Given the description of an element on the screen output the (x, y) to click on. 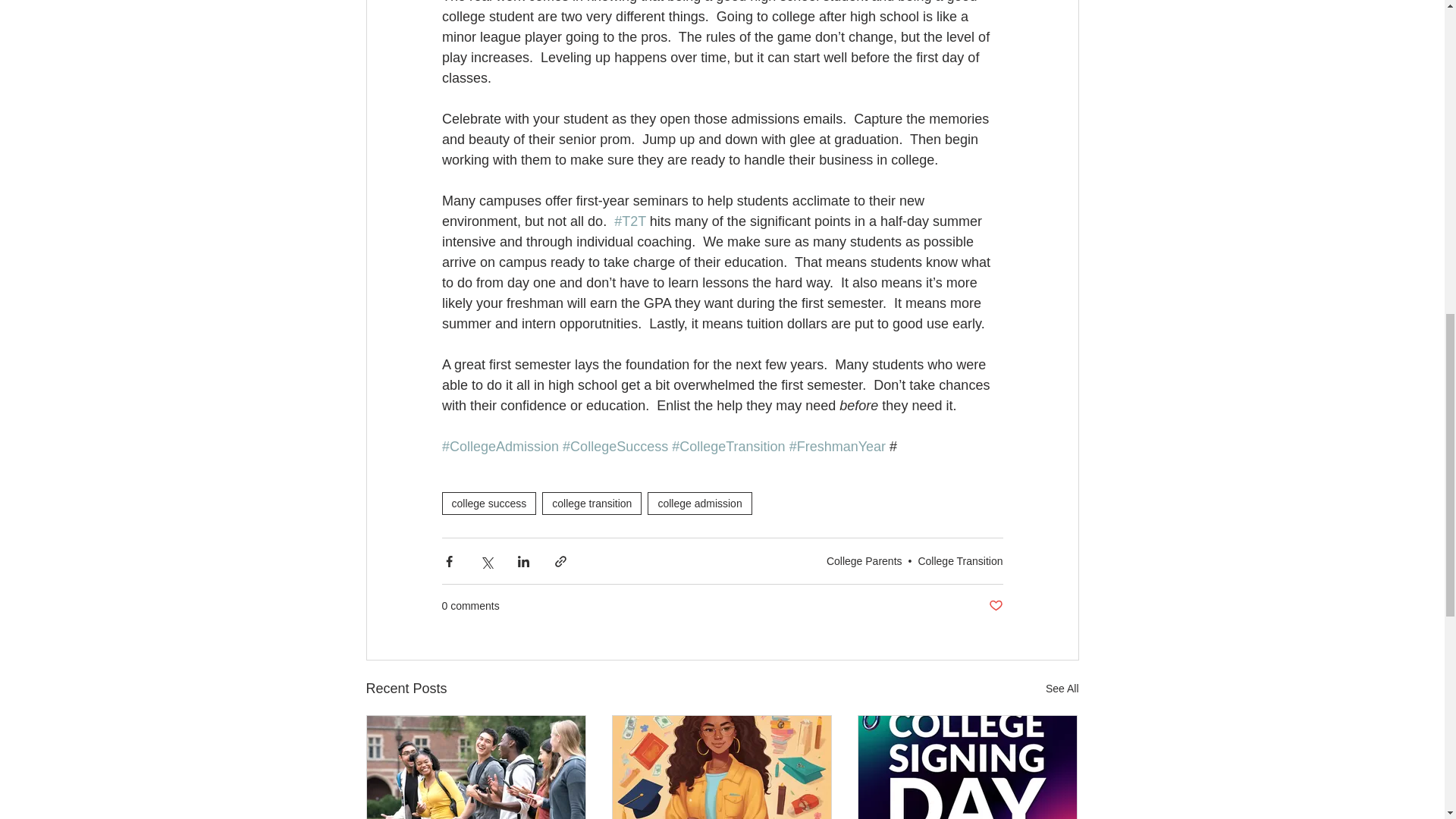
college transition (591, 503)
College Transition (960, 561)
College Parents (864, 561)
See All (1061, 689)
college admission (699, 503)
college success (488, 503)
Post not marked as liked (995, 606)
